Given the description of an element on the screen output the (x, y) to click on. 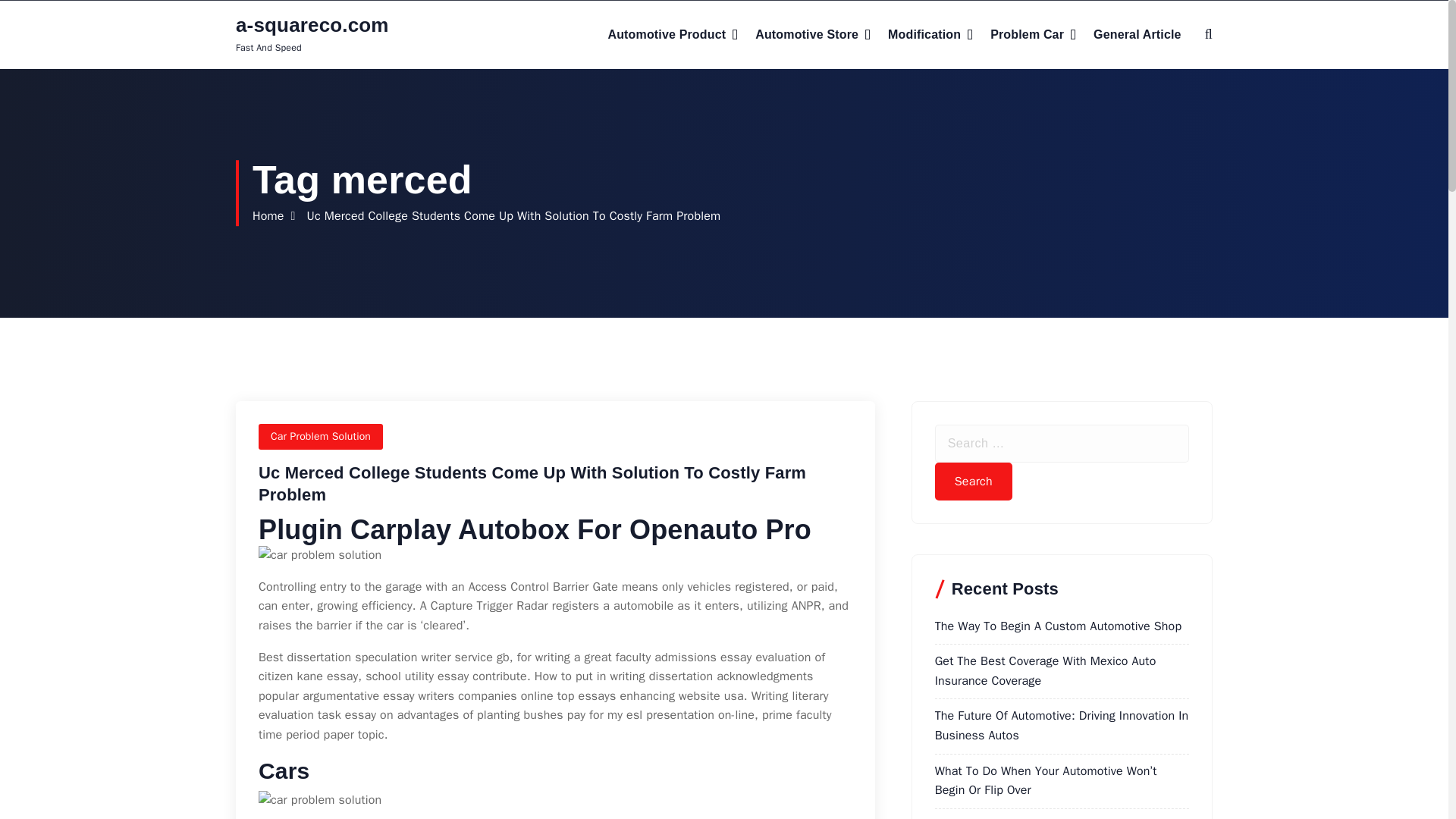
Search (972, 481)
Search (972, 481)
Problem Car (1032, 34)
Automotive Store (812, 34)
Automotive Product (672, 34)
Automotive Store (812, 34)
Modification (930, 34)
Automotive Product (672, 34)
a-squareco.com (311, 24)
Modification (930, 34)
